Given the description of an element on the screen output the (x, y) to click on. 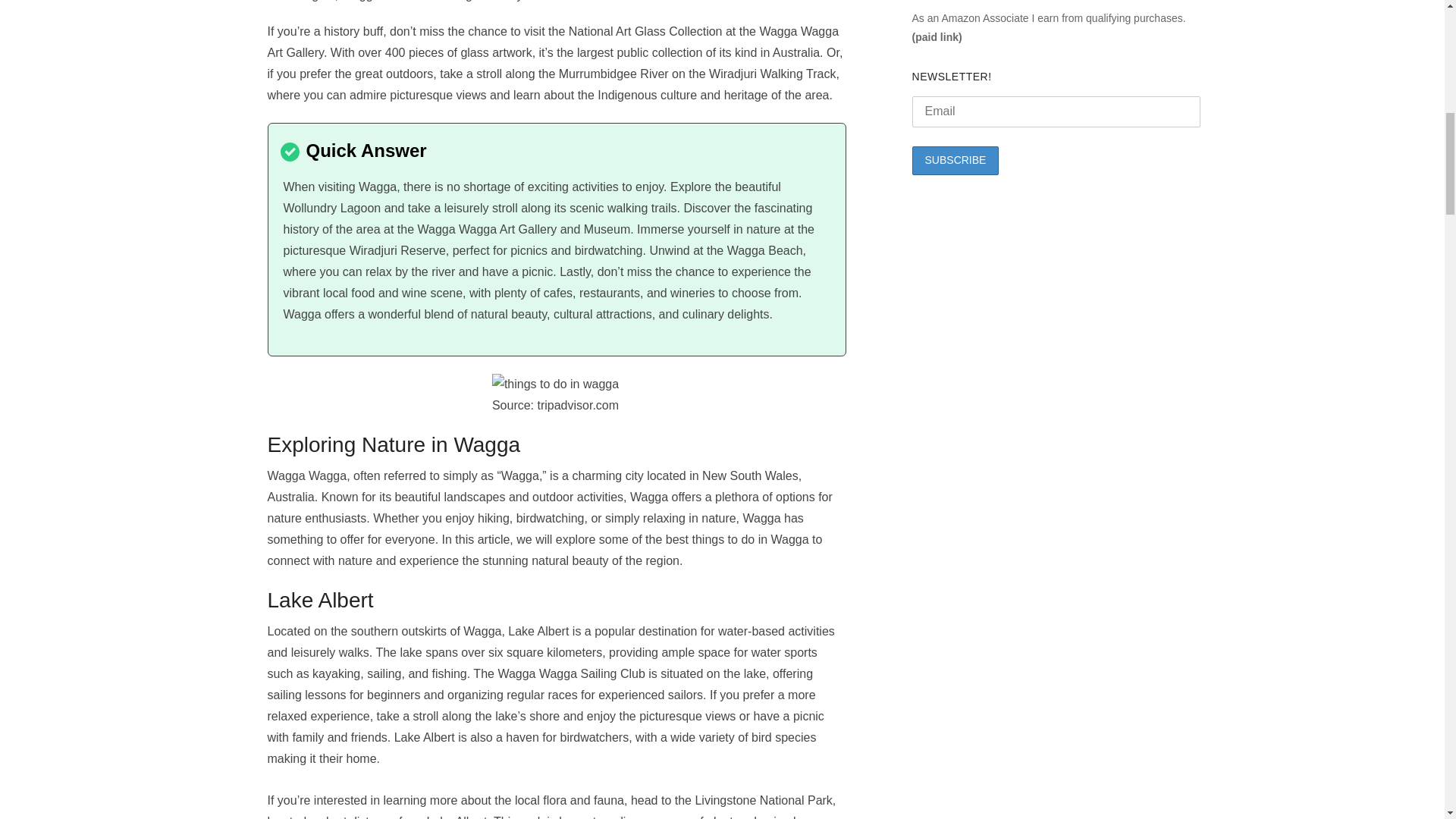
Subscribe (955, 160)
